Given the description of an element on the screen output the (x, y) to click on. 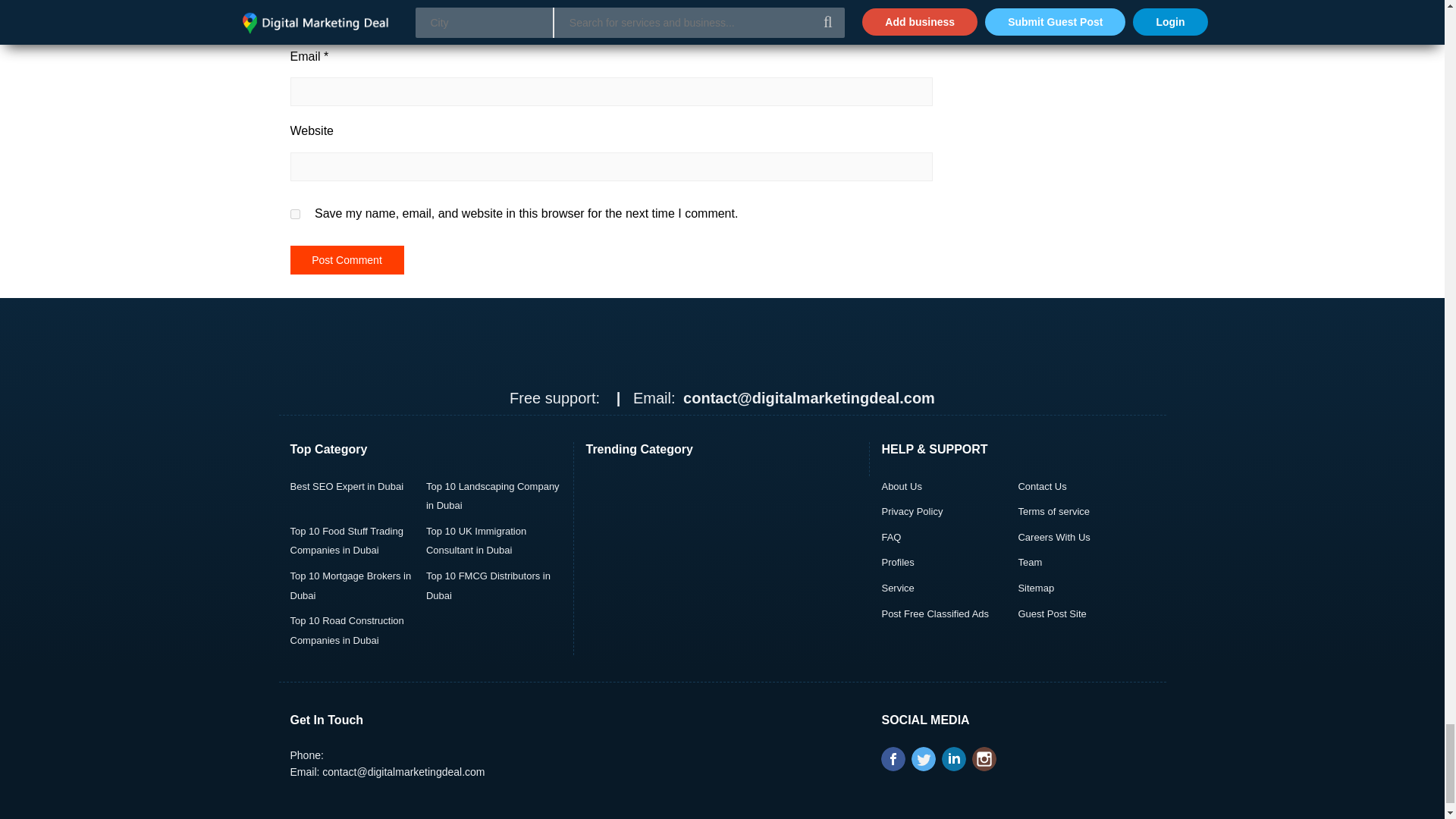
yes (294, 214)
Post Comment (346, 259)
